Given the description of an element on the screen output the (x, y) to click on. 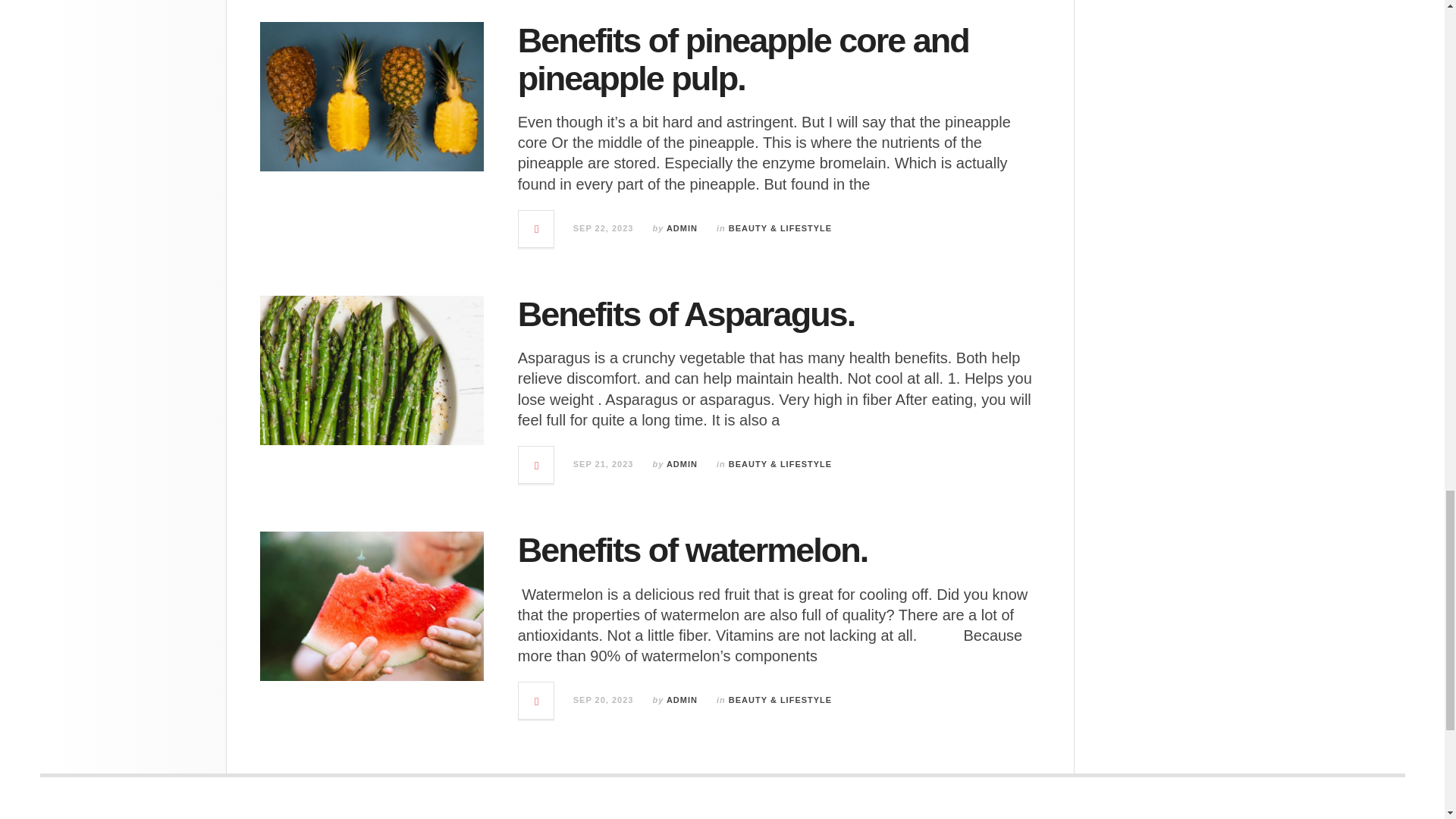
ADMIN (681, 227)
Benefits of pineapple core and pineapple pulp. (743, 59)
